Given the description of an element on the screen output the (x, y) to click on. 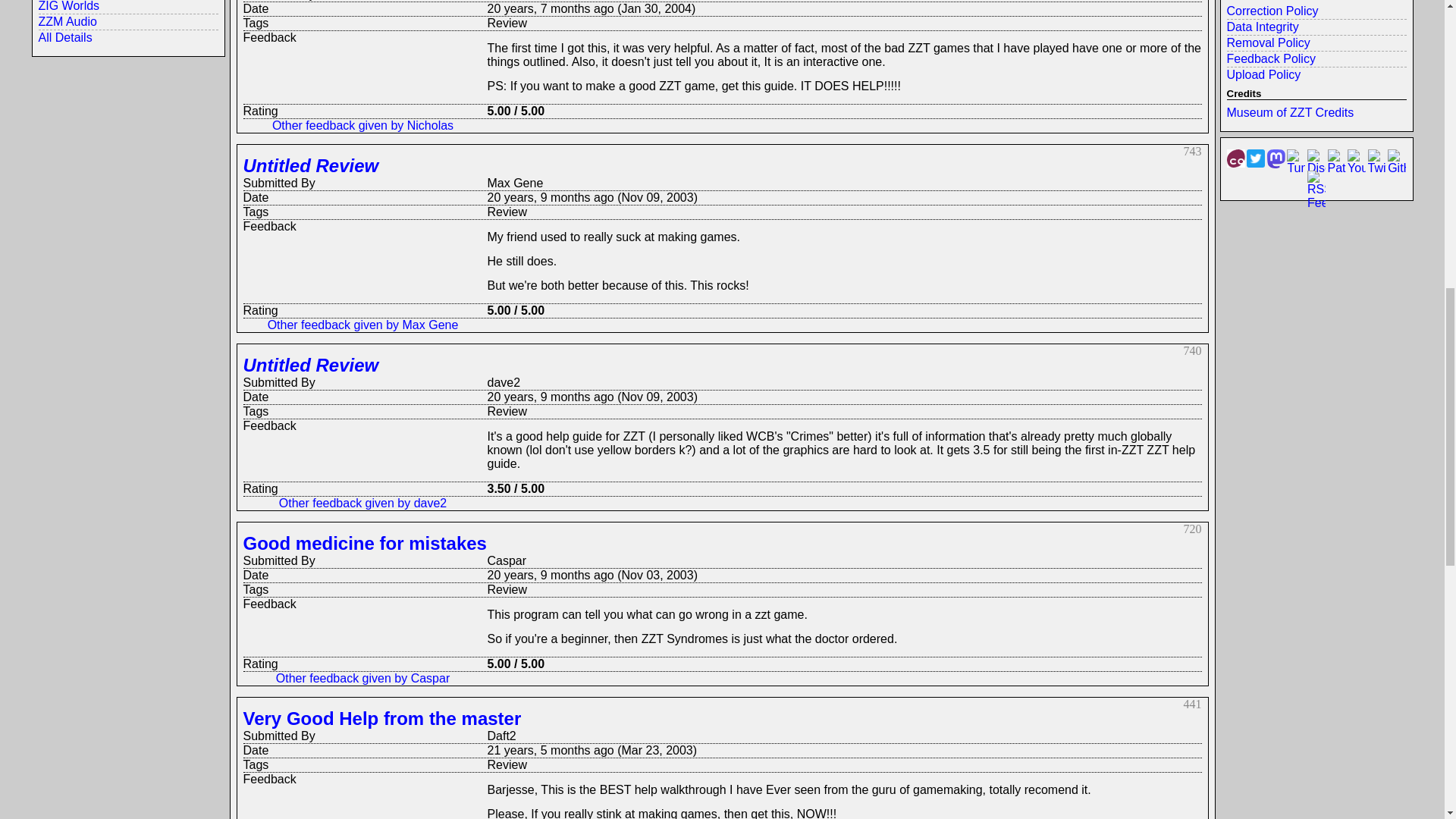
Mastodon (1275, 158)
cohost (1235, 158)
Twitter (1255, 158)
